Given the description of an element on the screen output the (x, y) to click on. 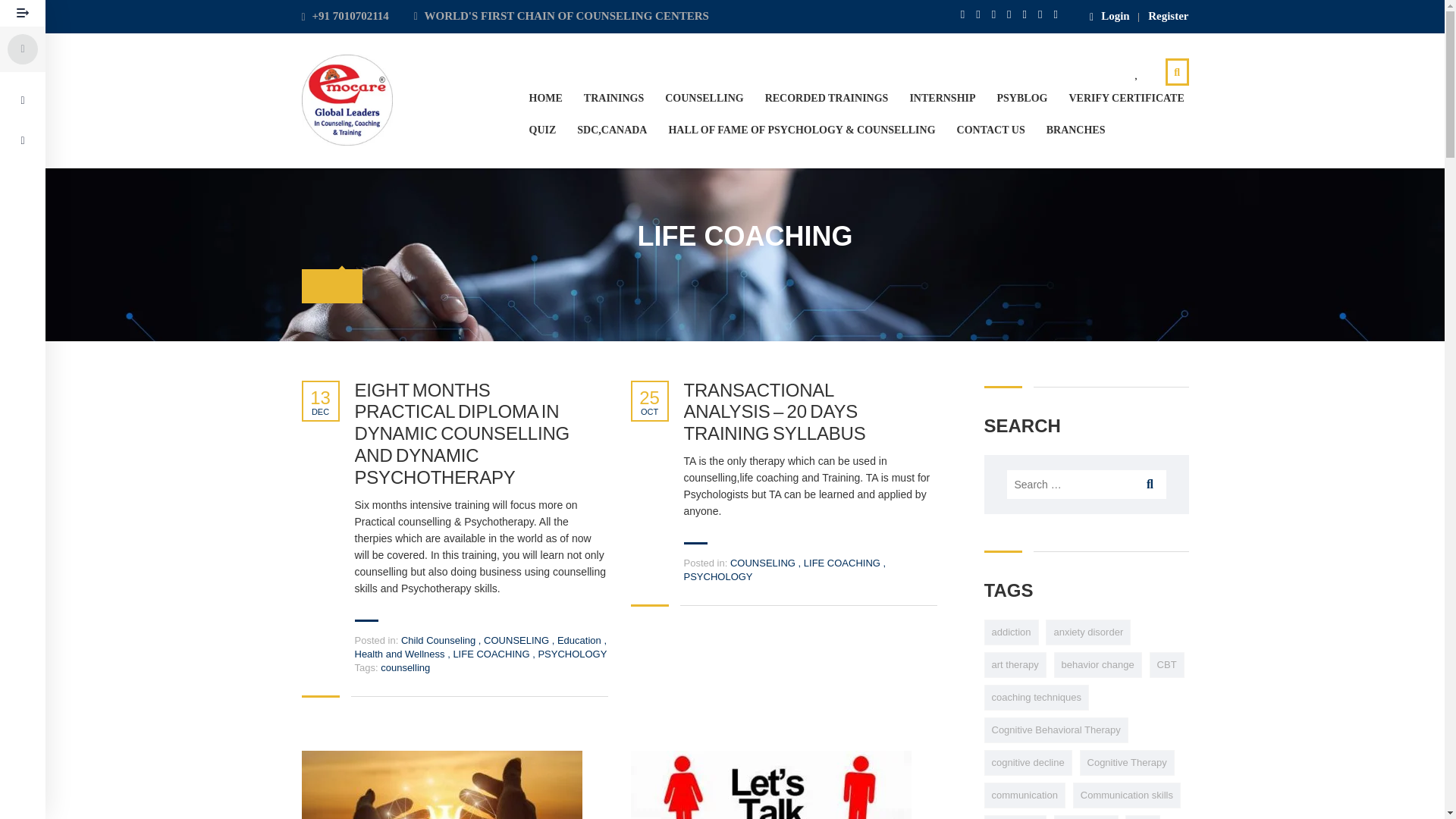
Login (1109, 16)
PSYBLOG (1022, 98)
Watch full (441, 785)
Watch full (770, 785)
SDC,CANADA (611, 130)
TRAININGS (613, 98)
Child Counseling (438, 640)
CONTACT US (990, 130)
Register (1168, 16)
VERIFY CERTIFICATE (1125, 98)
INTERNSHIP (941, 98)
COUNSELLING (703, 98)
BRANCHES (1075, 130)
HOME (545, 98)
